Given the description of an element on the screen output the (x, y) to click on. 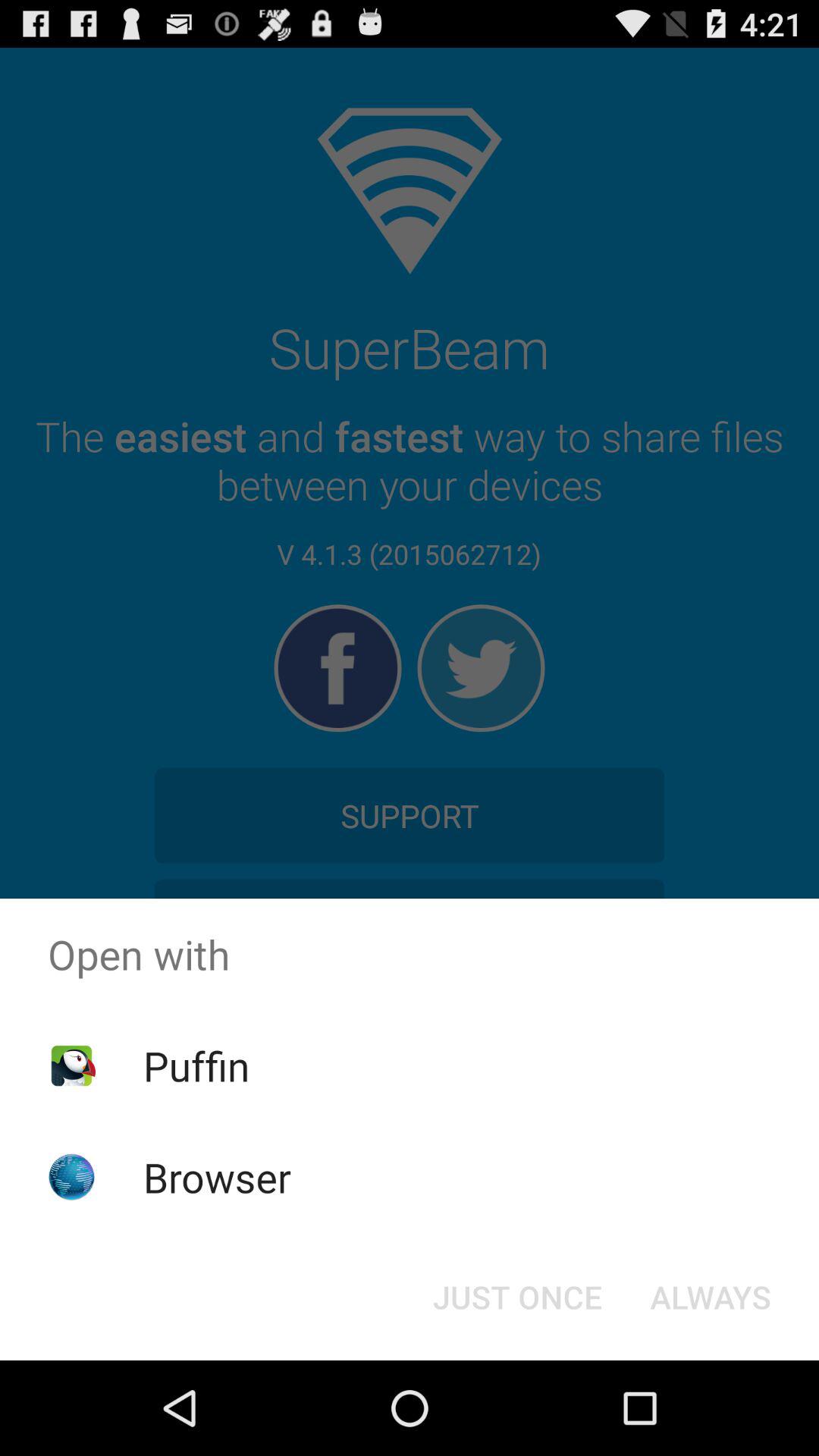
choose button next to the always button (517, 1296)
